Given the description of an element on the screen output the (x, y) to click on. 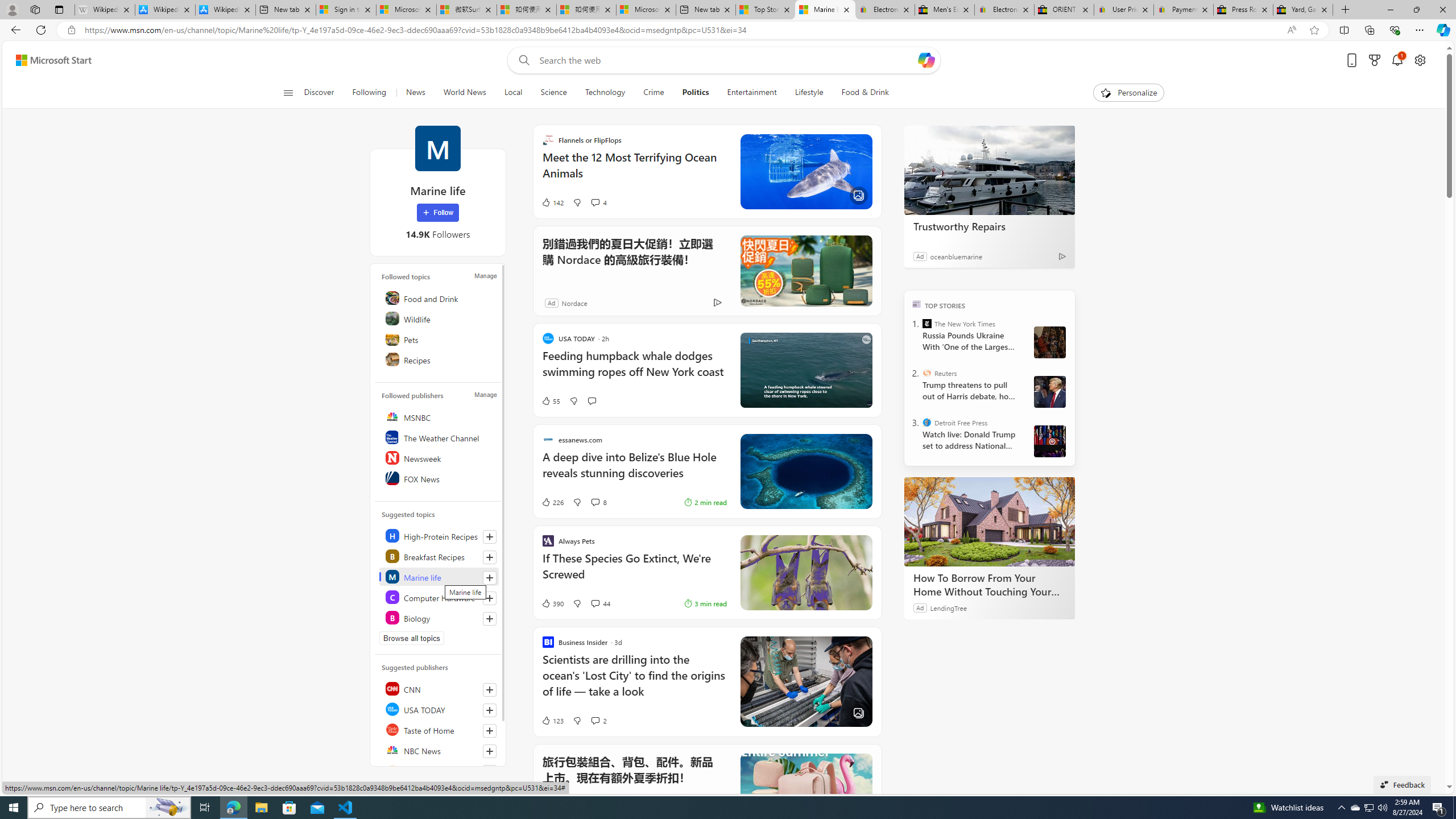
USA TODAY (439, 709)
Trustworthy Repairs (989, 169)
